Given the description of an element on the screen output the (x, y) to click on. 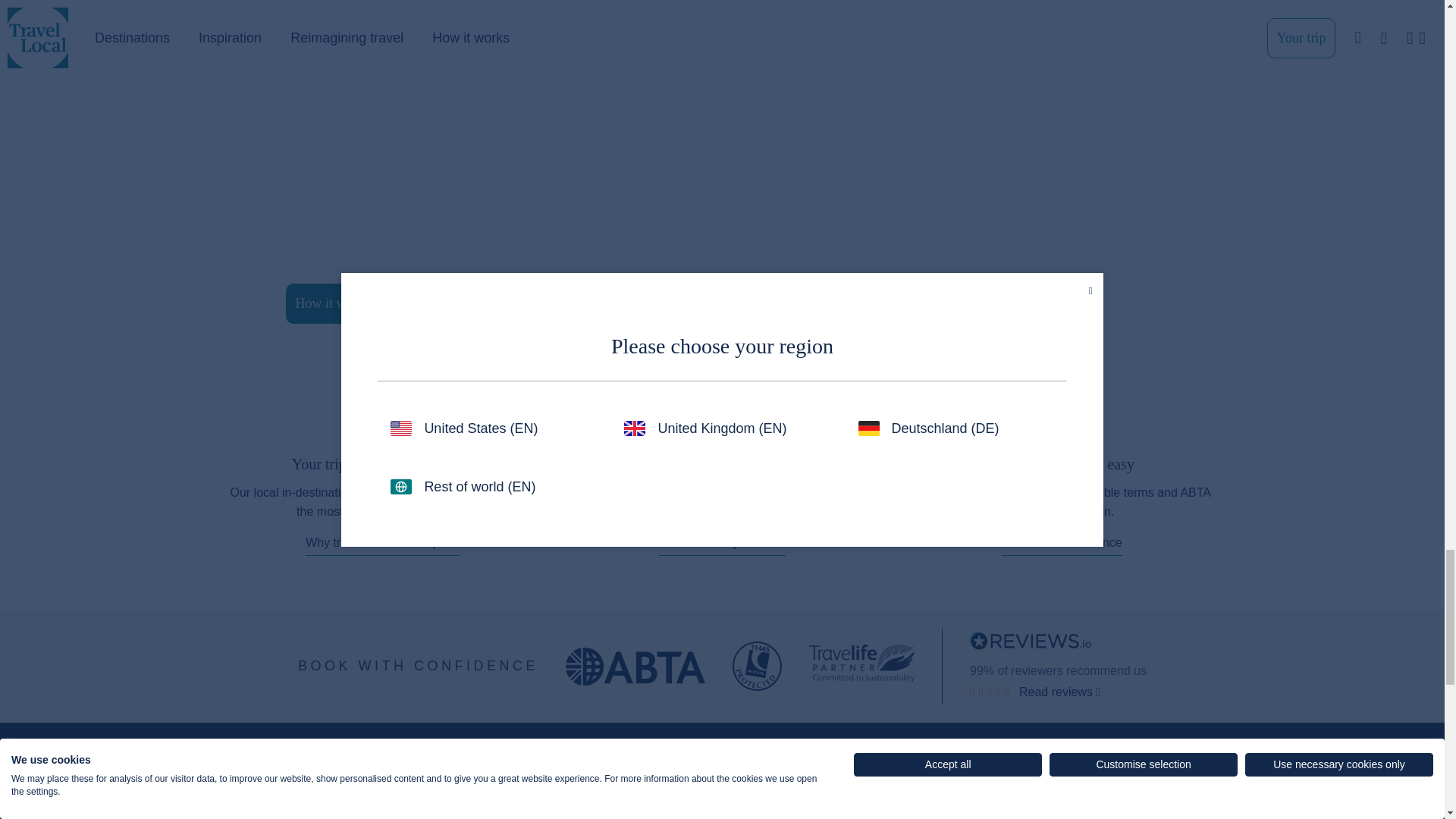
TravelLocal is ABTA member P6930 - book with confidence. (635, 666)
TravelLocal is ATOL member 11445 - book with confidence. (756, 666)
TravelLocal reviews at Reviews.io (1029, 640)
TravelLocal is a Travelife Partner (861, 663)
